Given the description of an element on the screen output the (x, y) to click on. 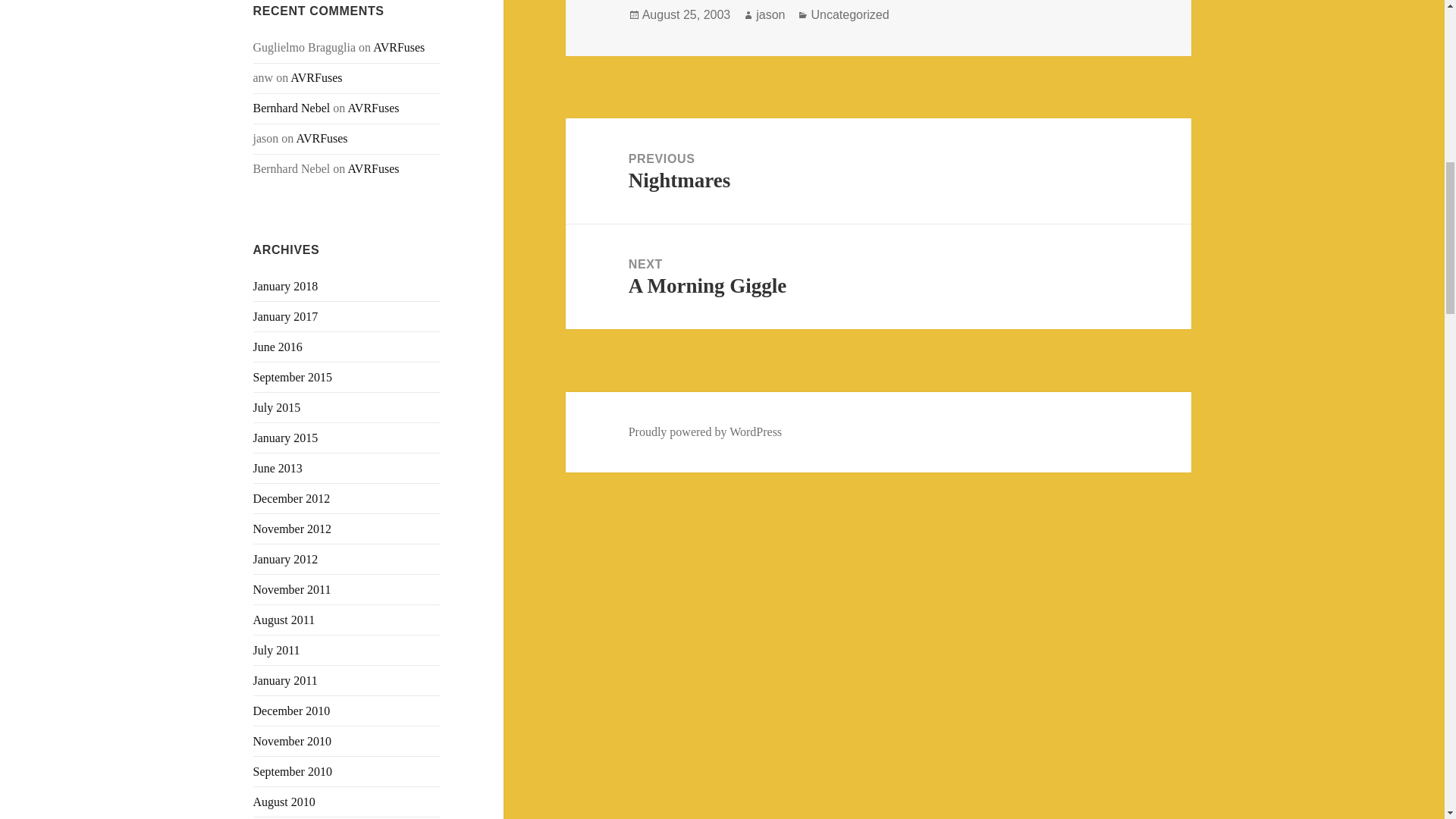
December 2010 (291, 710)
November 2010 (292, 740)
July 2011 (276, 649)
November 2011 (292, 589)
AVRFuses (372, 168)
June 2013 (277, 468)
December 2012 (291, 498)
January 2011 (285, 680)
AVRFuses (398, 47)
August 2010 (284, 801)
